Given the description of an element on the screen output the (x, y) to click on. 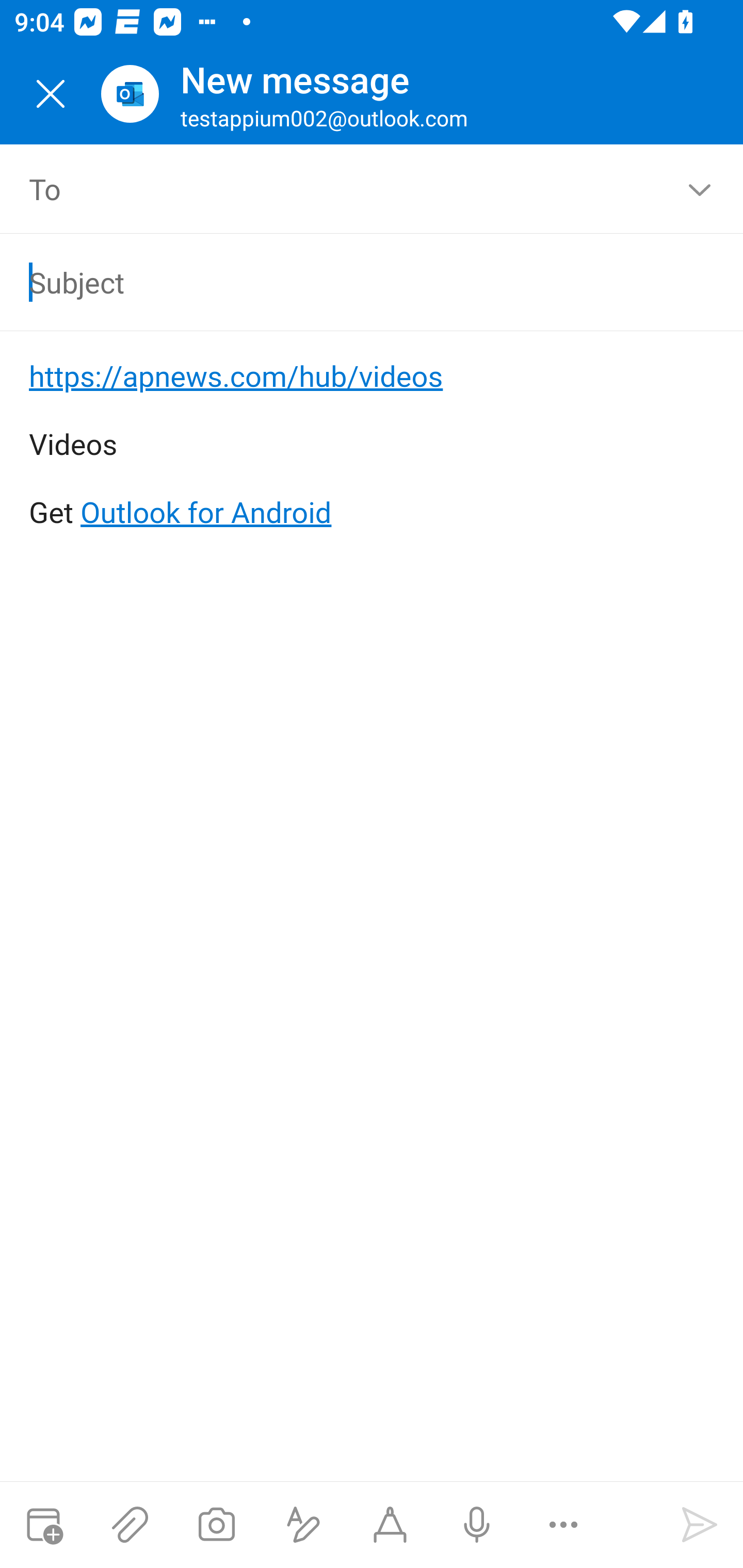
Close (50, 93)
Subject (342, 281)
Attach meeting (43, 1524)
Attach files (129, 1524)
Take a photo (216, 1524)
Show formatting options (303, 1524)
Start Ink compose (389, 1524)
Dictation (476, 1524)
More options (563, 1524)
Send (699, 1524)
